Given the description of an element on the screen output the (x, y) to click on. 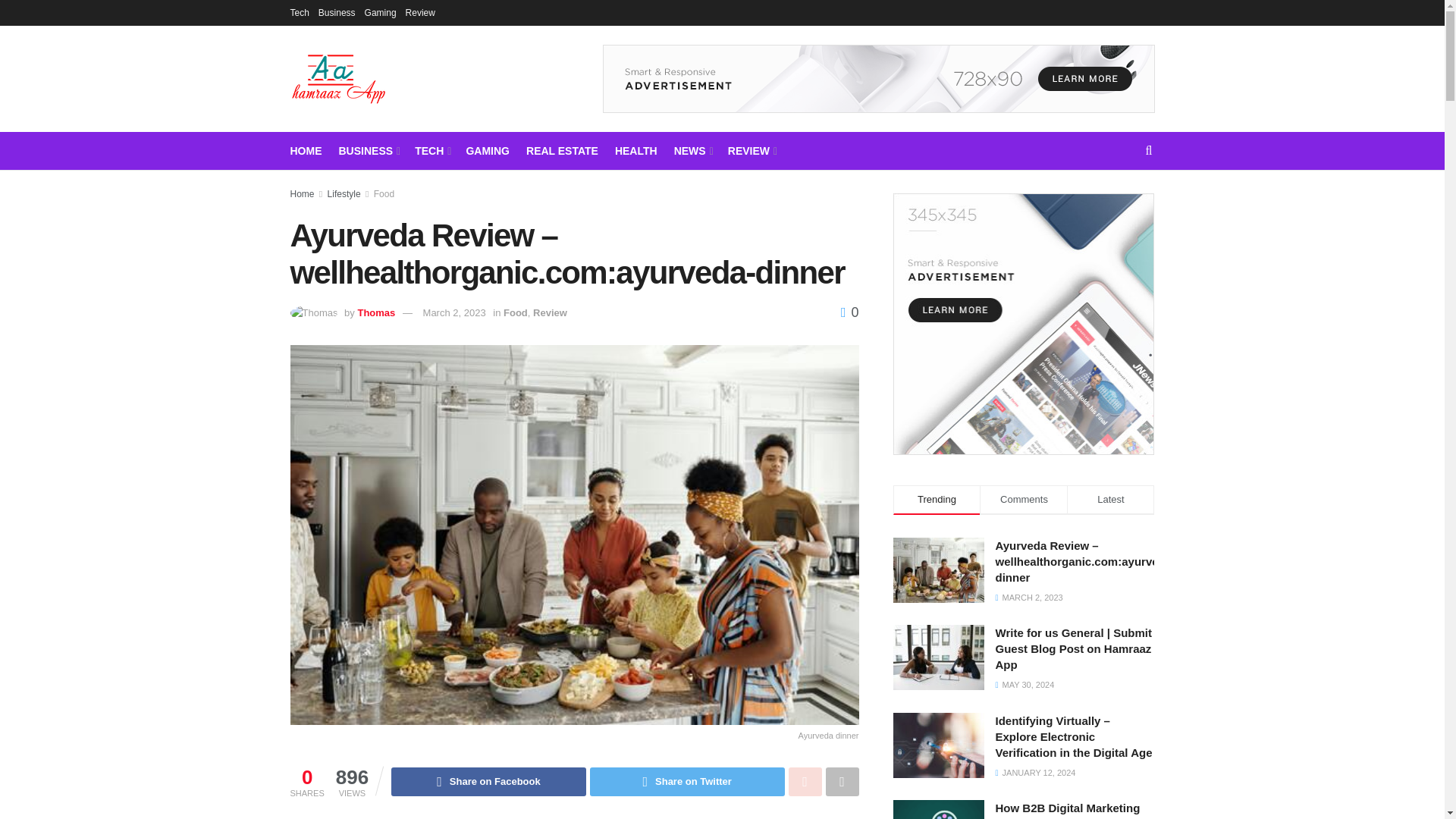
HEALTH (636, 150)
TECH (431, 150)
GAMING (487, 150)
REVIEW (751, 150)
REAL ESTATE (561, 150)
Business (336, 12)
BUSINESS (367, 150)
Review (420, 12)
Gaming (380, 12)
HOME (305, 150)
